Given the description of an element on the screen output the (x, y) to click on. 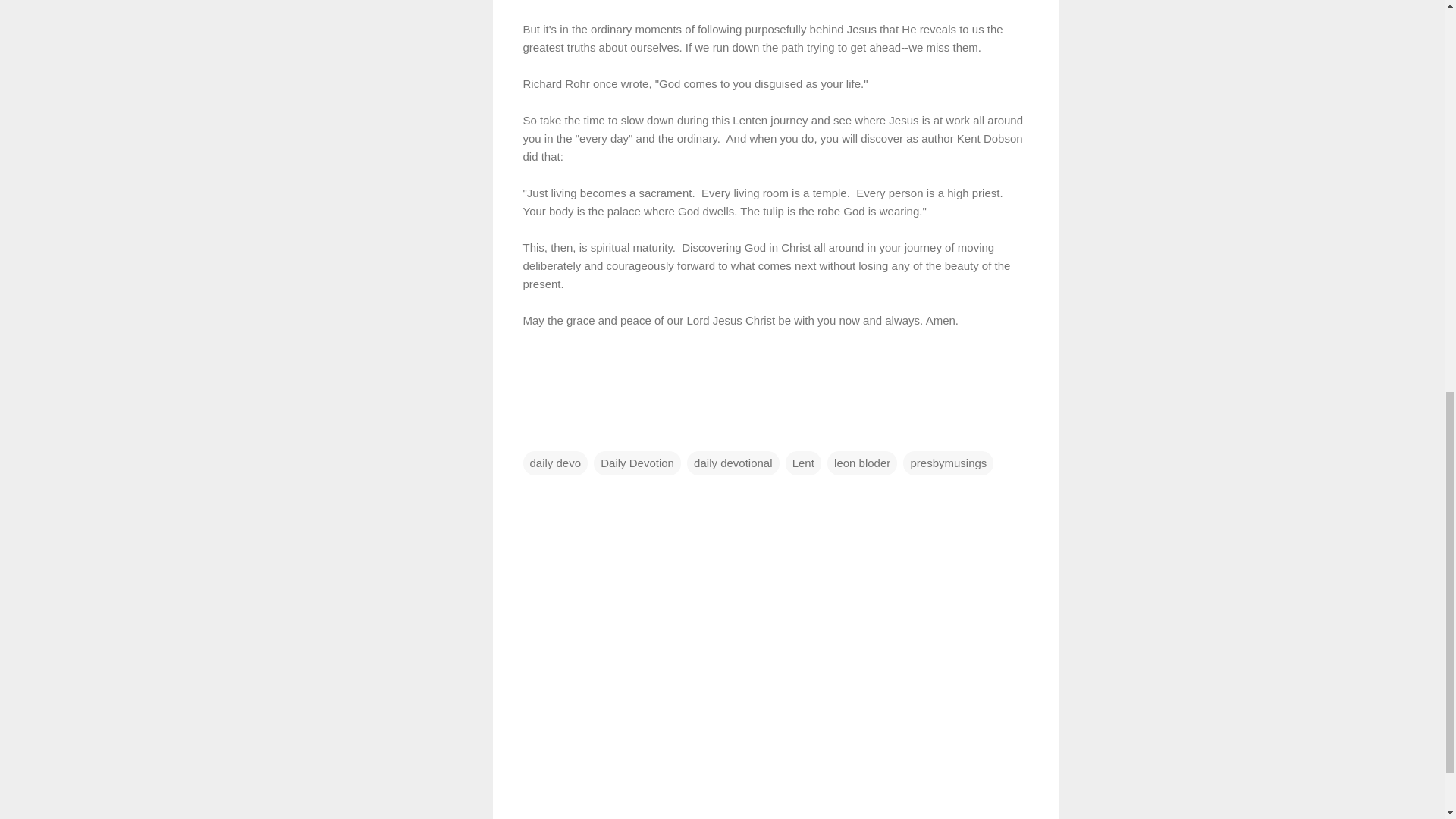
Email Post (531, 431)
presbymusings (947, 462)
daily devo (555, 462)
Lent (803, 462)
Daily Devotion (637, 462)
daily devotional (732, 462)
leon bloder (861, 462)
